Given the description of an element on the screen output the (x, y) to click on. 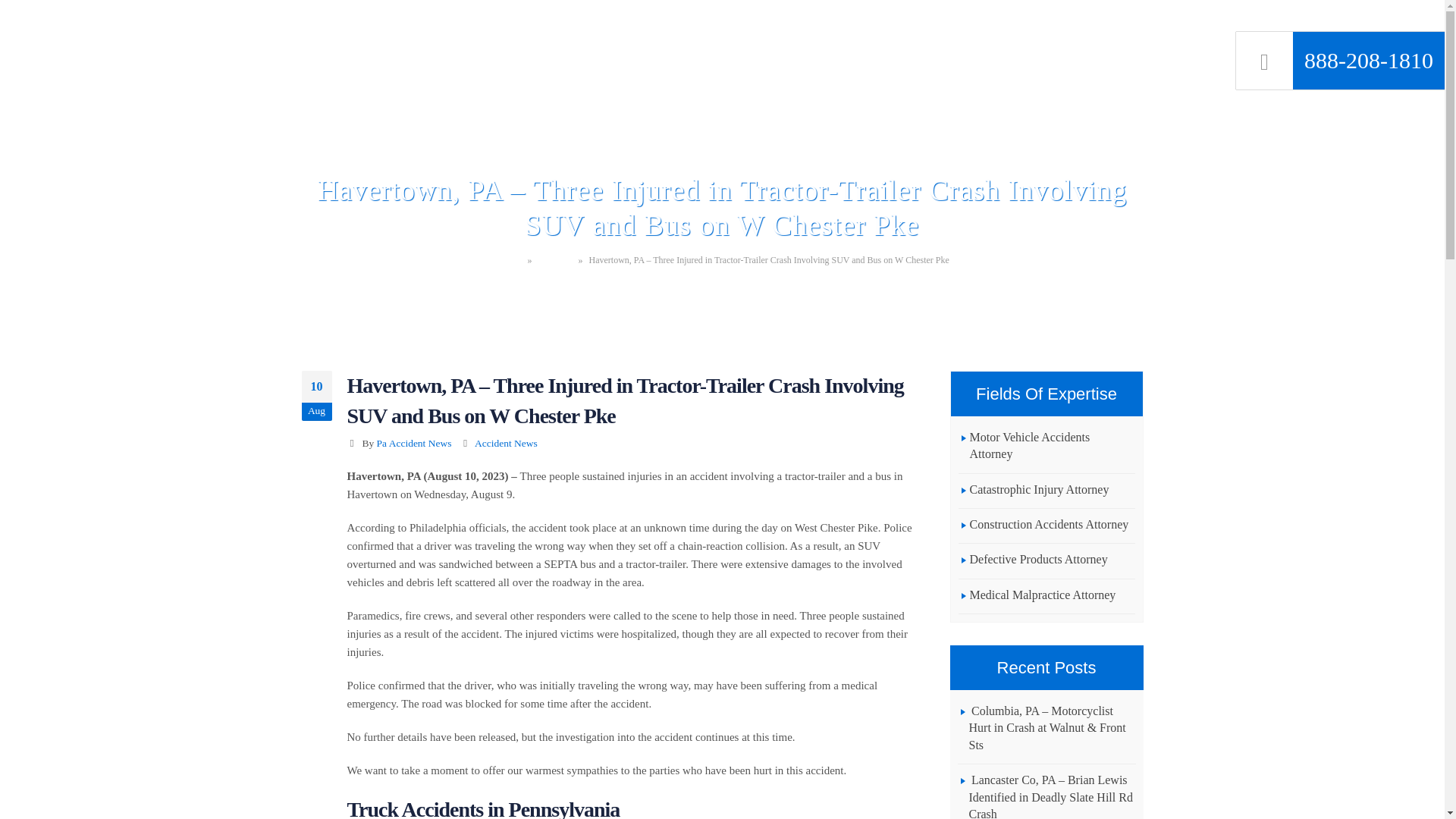
FAQ (830, 28)
Attorney Profiles (646, 28)
Our Blog (1029, 28)
Home (510, 259)
Our Blog (555, 259)
Posts by Pa Accident News (414, 442)
Practice Areas (756, 28)
Contact Us (1109, 28)
Home (561, 28)
